Given the description of an element on the screen output the (x, y) to click on. 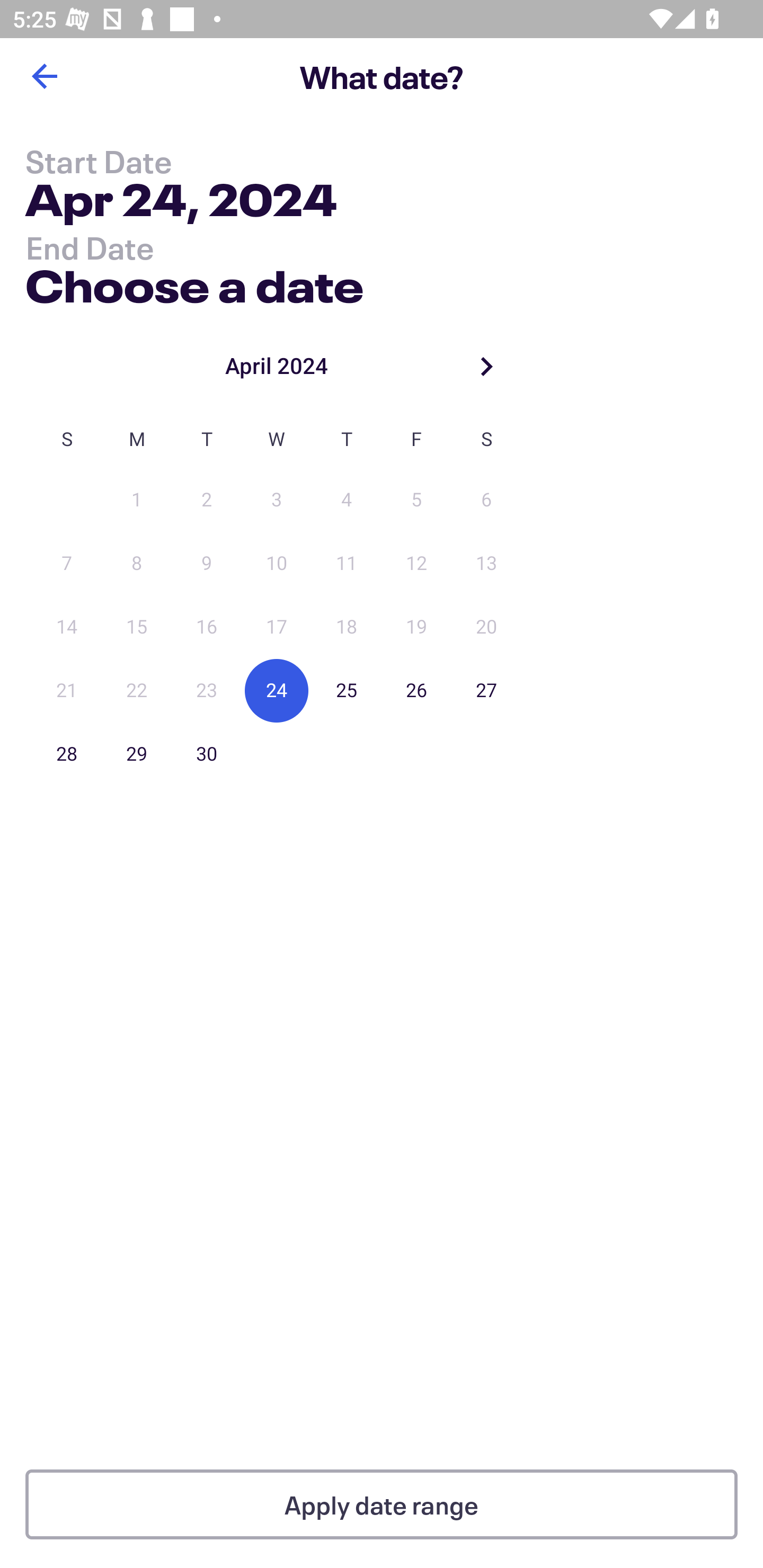
Back button (44, 75)
Apr 24, 2024 (181, 203)
Choose a date (194, 282)
Next month (486, 365)
1 01 April 2024 (136, 499)
2 02 April 2024 (206, 499)
3 03 April 2024 (276, 499)
4 04 April 2024 (346, 499)
5 05 April 2024 (416, 499)
6 06 April 2024 (486, 499)
7 07 April 2024 (66, 563)
8 08 April 2024 (136, 563)
9 09 April 2024 (206, 563)
10 10 April 2024 (276, 563)
11 11 April 2024 (346, 563)
12 12 April 2024 (416, 563)
13 13 April 2024 (486, 563)
14 14 April 2024 (66, 626)
15 15 April 2024 (136, 626)
16 16 April 2024 (206, 626)
17 17 April 2024 (276, 626)
18 18 April 2024 (346, 626)
19 19 April 2024 (416, 626)
20 20 April 2024 (486, 626)
21 21 April 2024 (66, 690)
22 22 April 2024 (136, 690)
23 23 April 2024 (206, 690)
24 24 April 2024 (276, 690)
25 25 April 2024 (346, 690)
26 26 April 2024 (416, 690)
27 27 April 2024 (486, 690)
28 28 April 2024 (66, 753)
29 29 April 2024 (136, 753)
30 30 April 2024 (206, 753)
Apply date range (381, 1504)
